Given the description of an element on the screen output the (x, y) to click on. 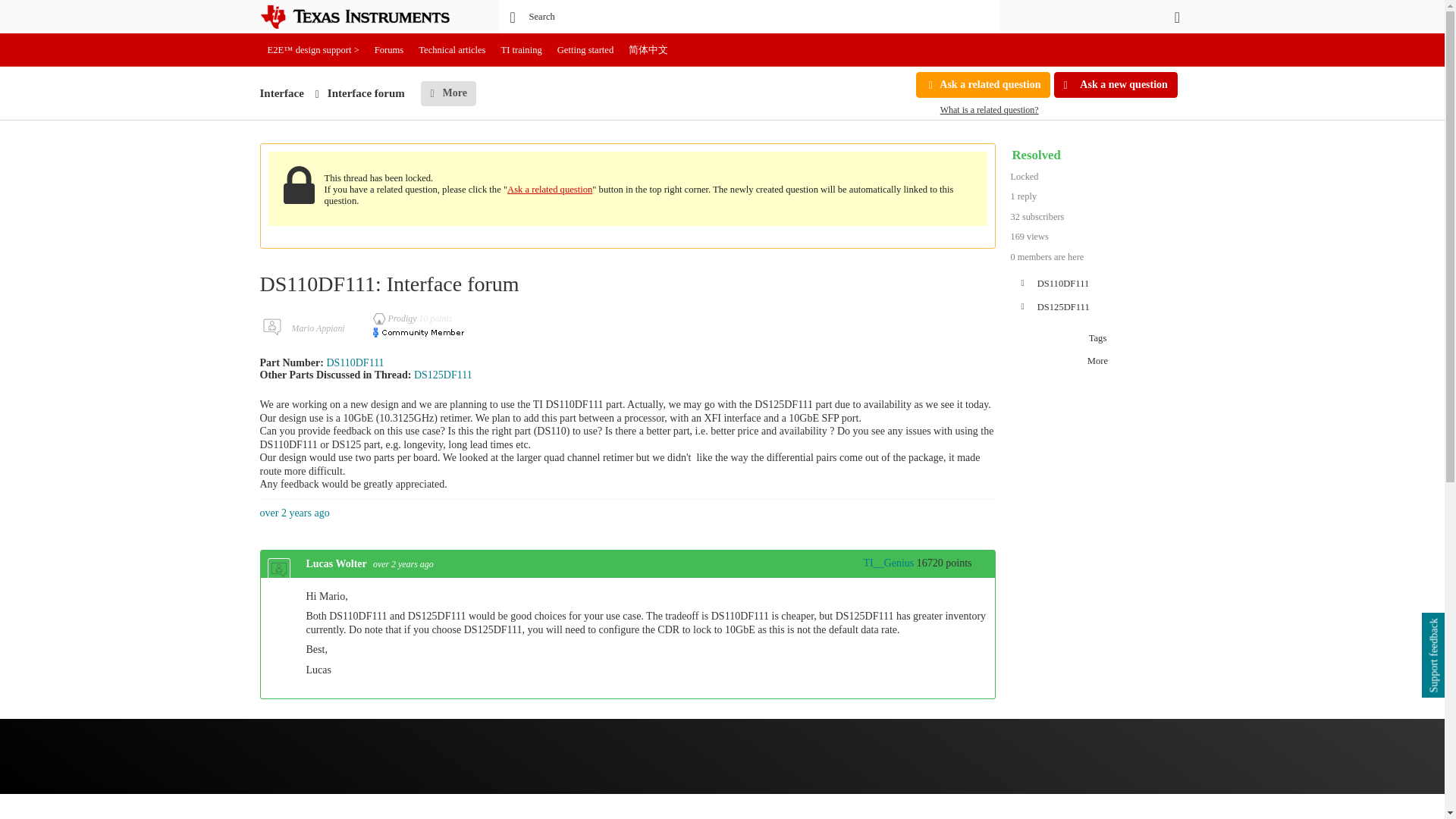
Join or sign in (1177, 17)
Link to Product Folder (442, 374)
Click here for explanation of levels (395, 317)
Click here for explanation of levels (881, 562)
Link to Product Folder (355, 362)
Getting started (585, 49)
Forums (389, 49)
User (1177, 17)
Home (365, 16)
Technical articles (451, 49)
